Given the description of an element on the screen output the (x, y) to click on. 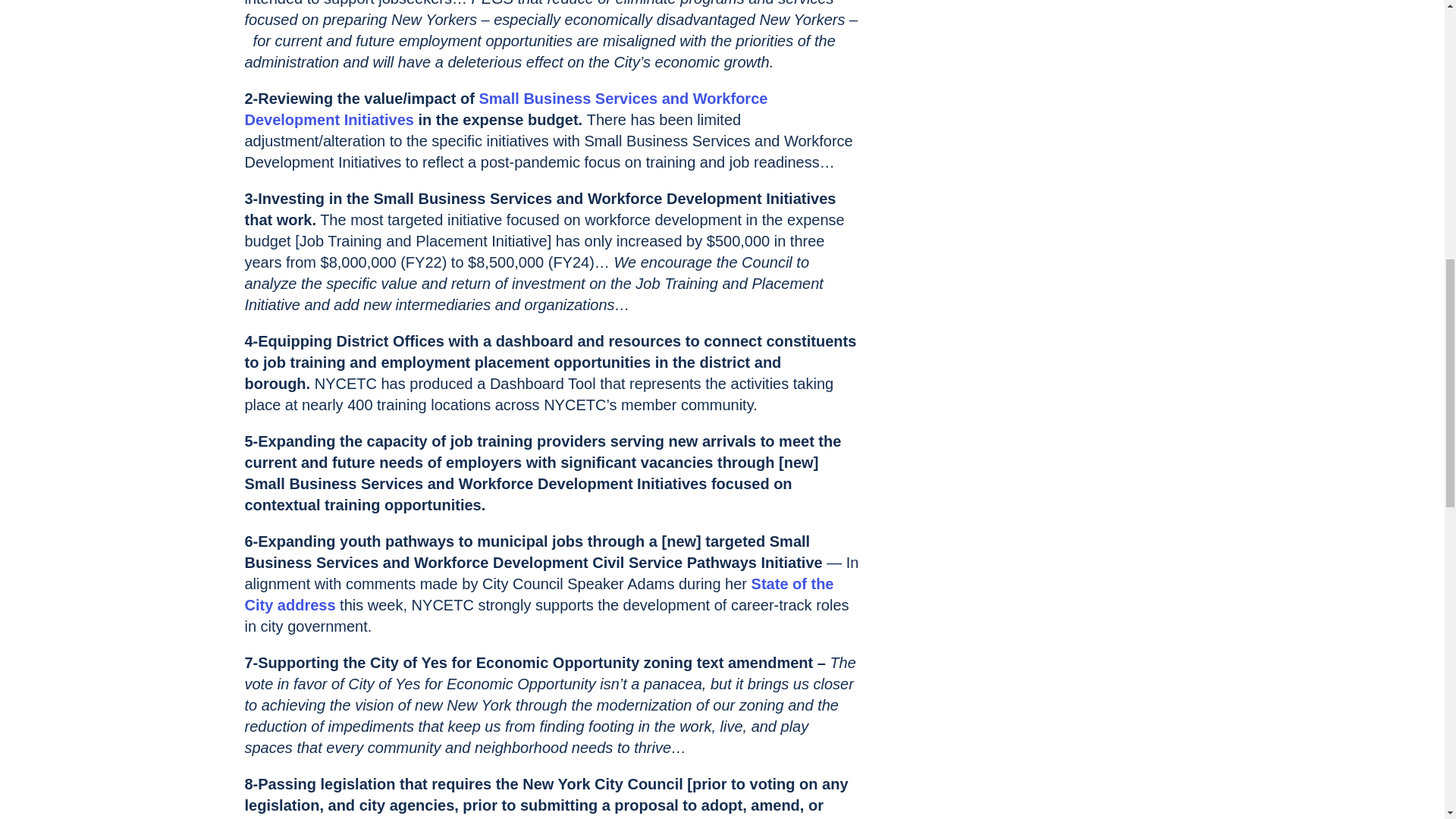
State of the City address (538, 594)
